Given the description of an element on the screen output the (x, y) to click on. 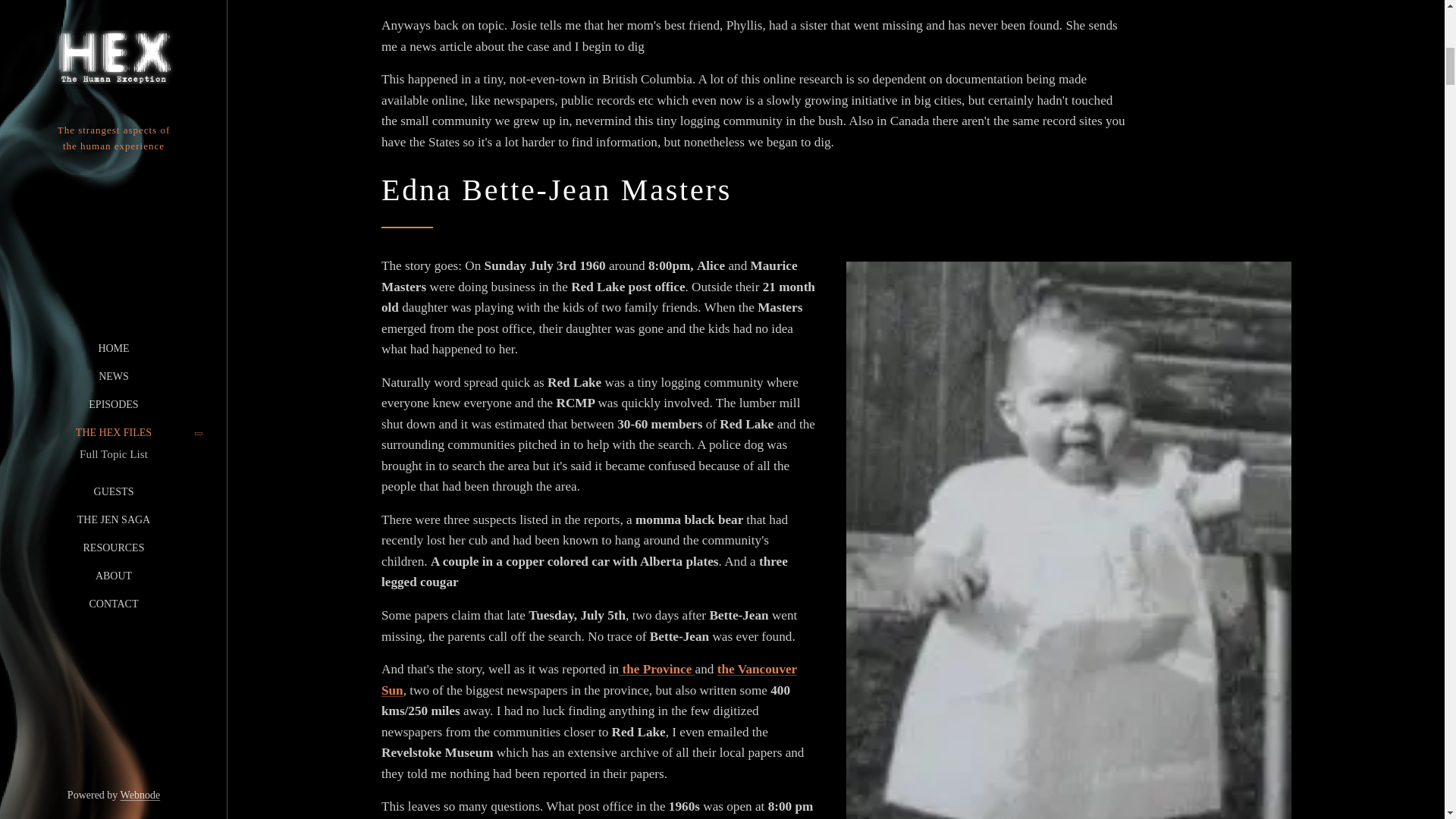
the Province (656, 668)
the Vancouver Sun (588, 679)
